Given the description of an element on the screen output the (x, y) to click on. 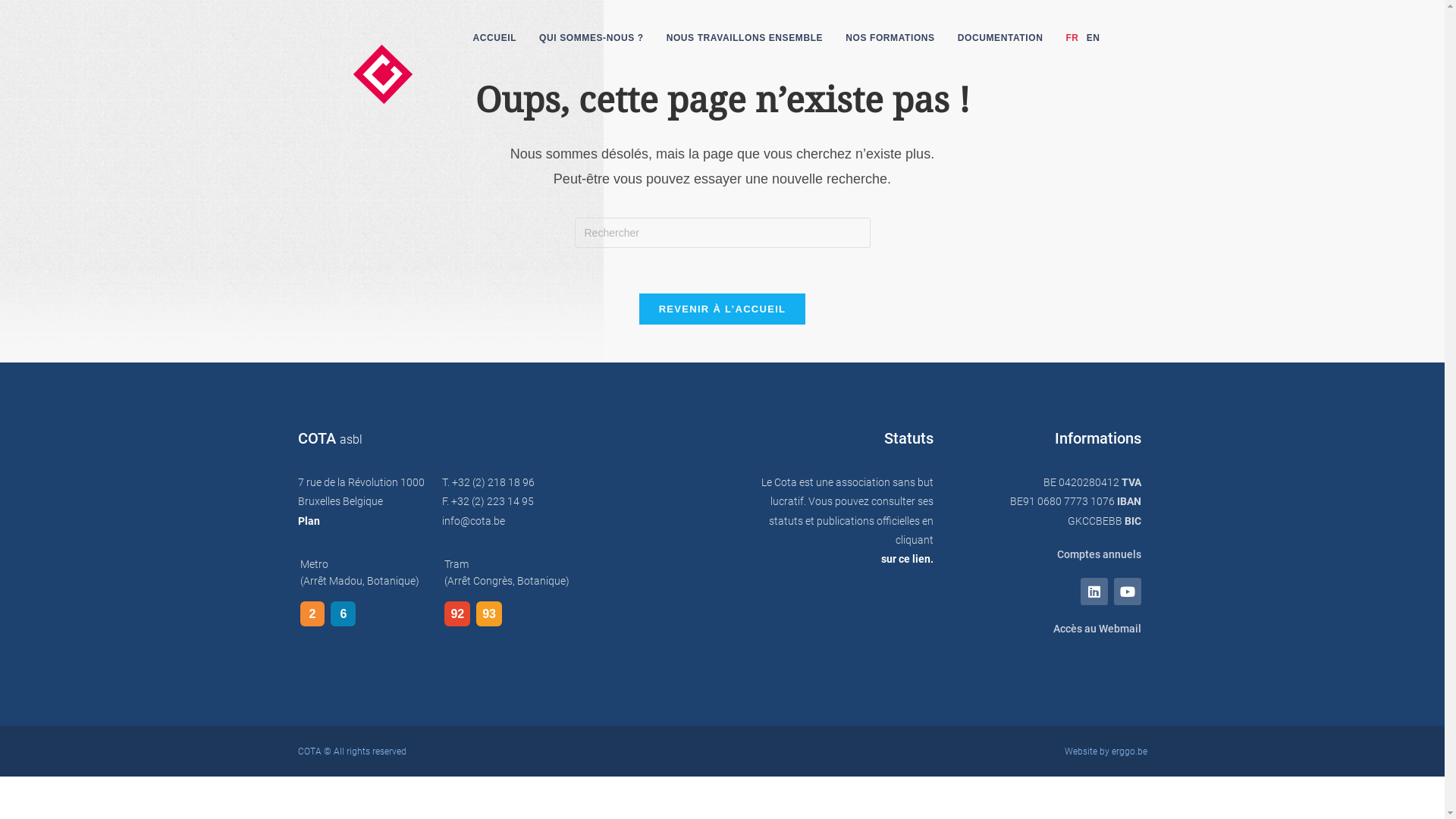
sur ce lien. Element type: text (839, 558)
QUI SOMMES-NOUS ? Element type: text (591, 37)
NOS FORMATIONS Element type: text (890, 37)
erggo.be Element type: text (1129, 751)
ACCUEIL Element type: text (494, 37)
DOCUMENTATION Element type: text (1000, 37)
info@cota.be Element type: text (473, 520)
93 Element type: text (489, 613)
NOUS TRAVAILLONS ENSEMBLE Element type: text (744, 37)
92 Element type: text (457, 613)
Plan Element type: text (308, 520)
EN Element type: text (1093, 37)
6 Element type: text (342, 613)
2 Element type: text (312, 613)
Comptes annuels Element type: text (1044, 554)
FR Element type: text (1068, 37)
